Given the description of an element on the screen output the (x, y) to click on. 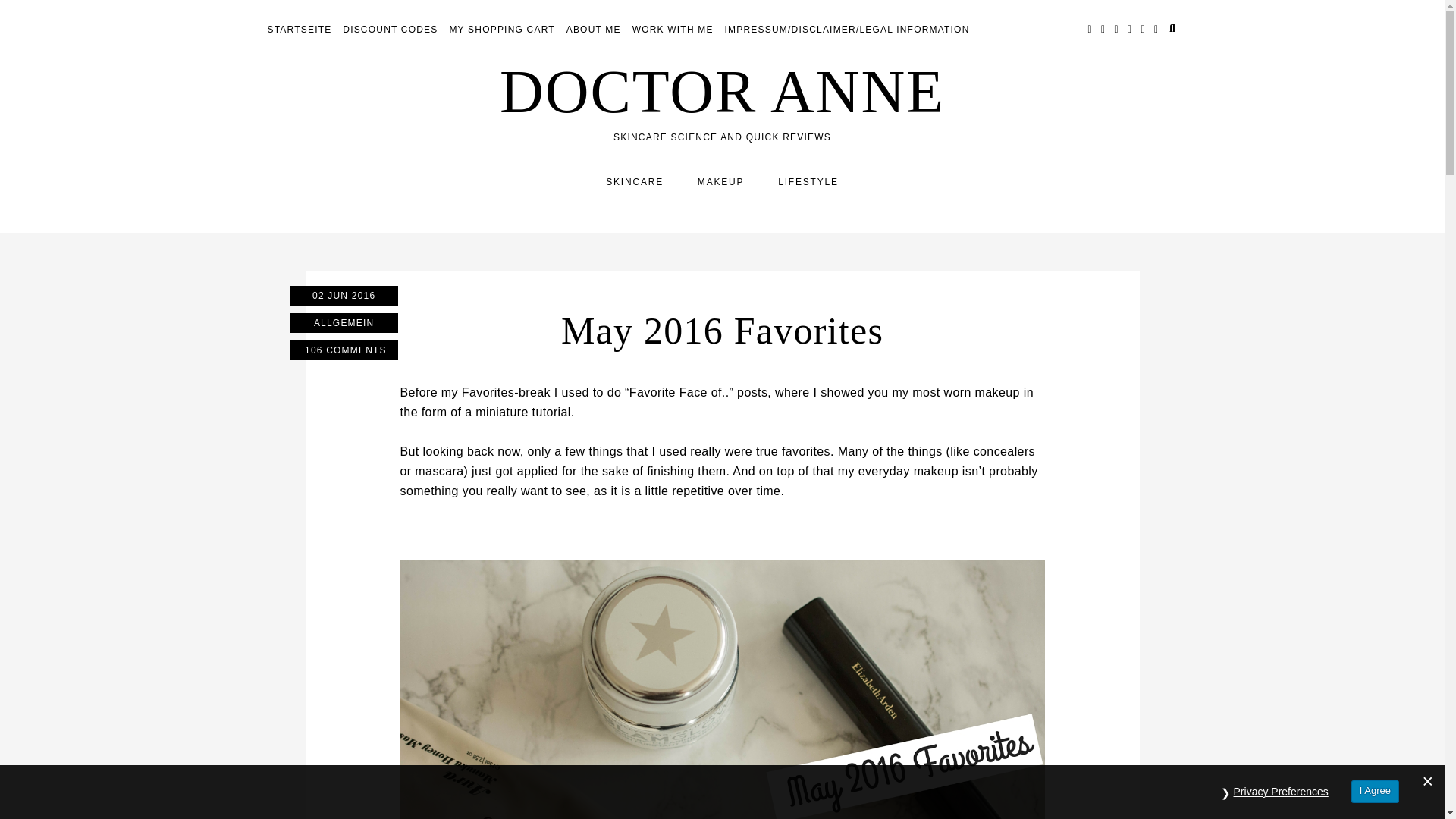
WORK WITH ME (672, 29)
DOCTOR ANNE (721, 91)
MY SHOPPING CART (501, 29)
STARTSEITE (298, 29)
ABOUT ME (593, 29)
DISCOUNT CODES (390, 29)
View all posts in Allgemein (343, 322)
